Given the description of an element on the screen output the (x, y) to click on. 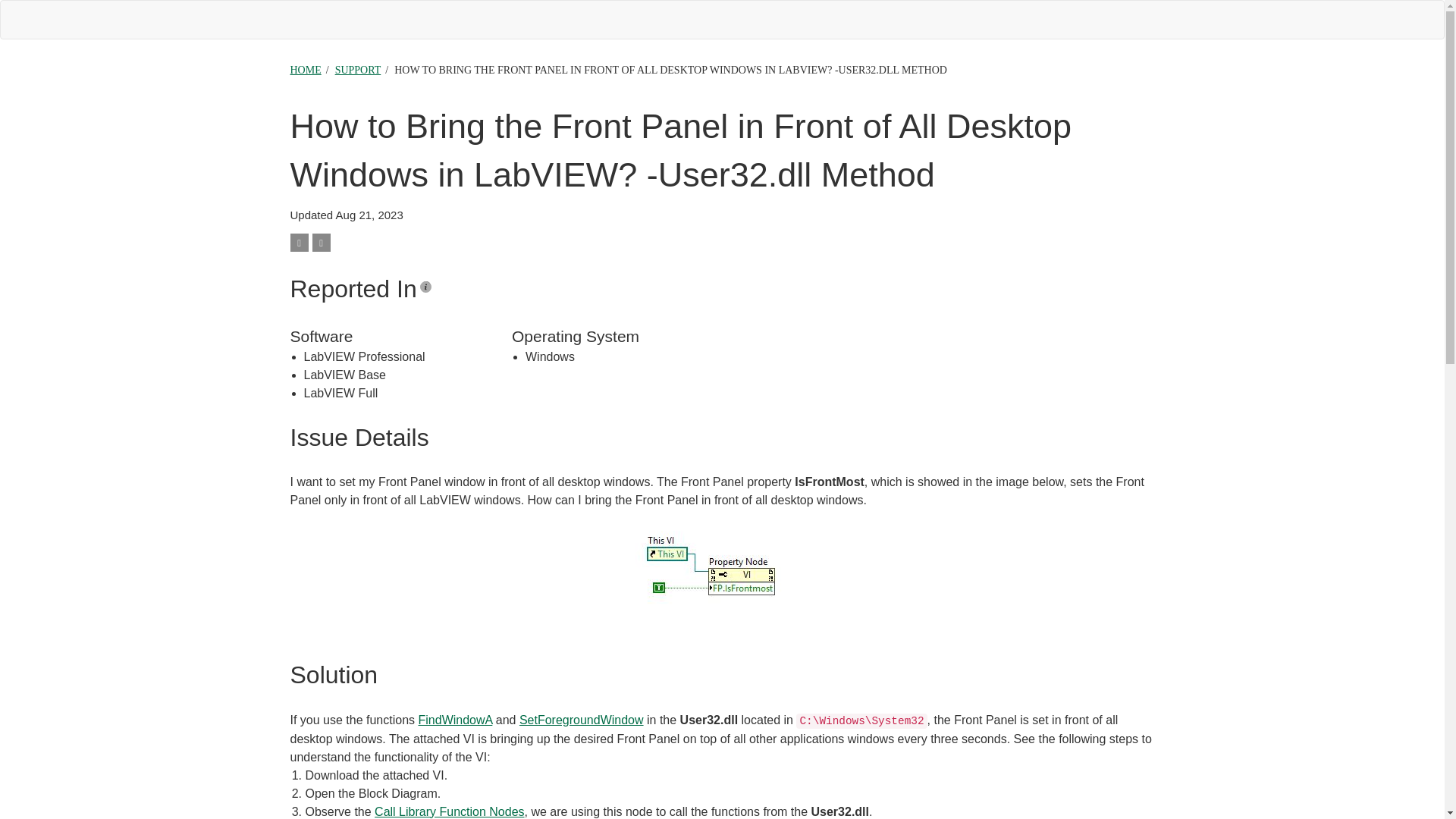
HOME (304, 69)
Call Library Function Nodes (449, 811)
SetForegroundWindow (581, 719)
SUPPORT (357, 69)
FindWindowA (456, 719)
